Given the description of an element on the screen output the (x, y) to click on. 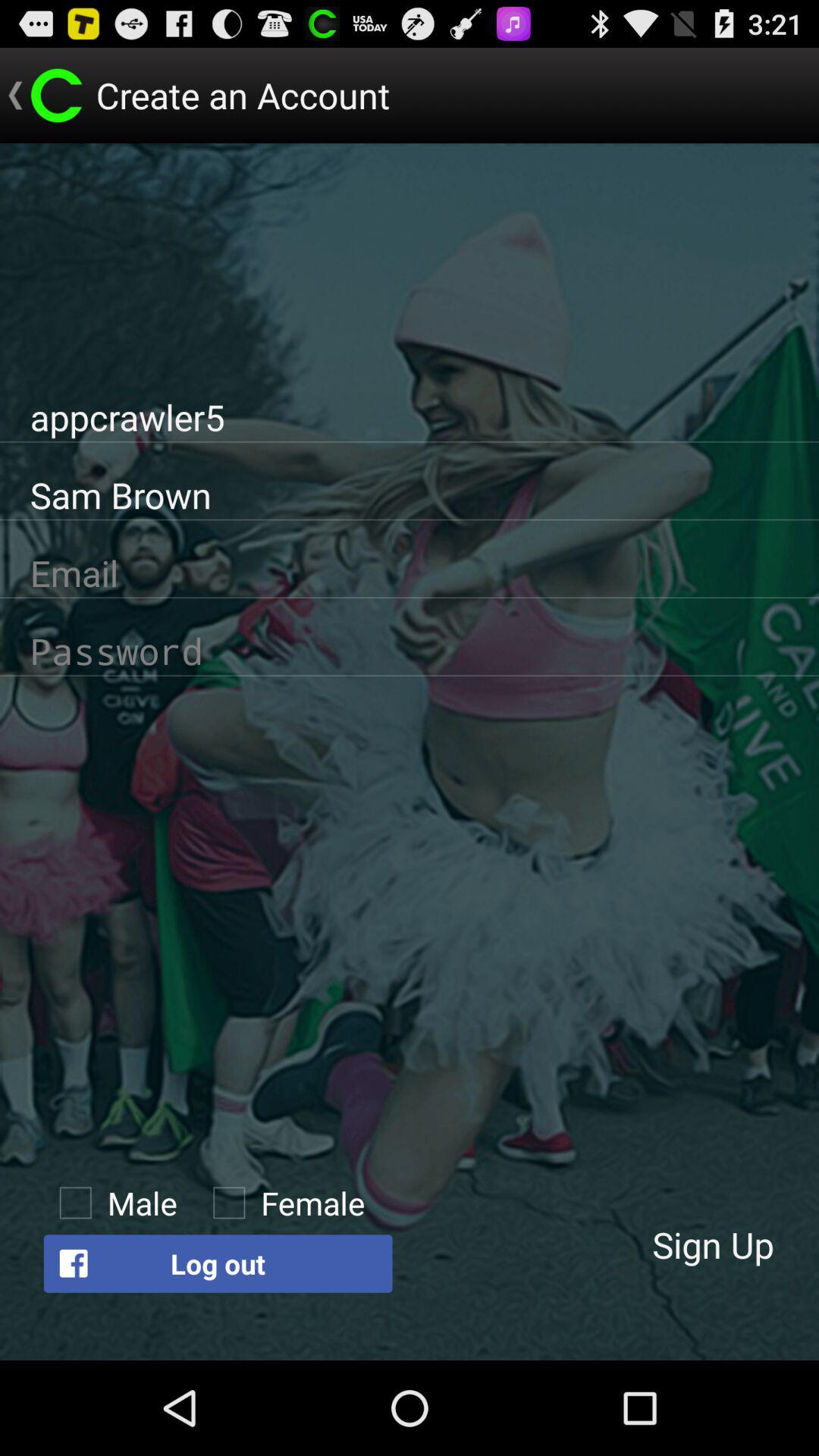
enter password (409, 651)
